Given the description of an element on the screen output the (x, y) to click on. 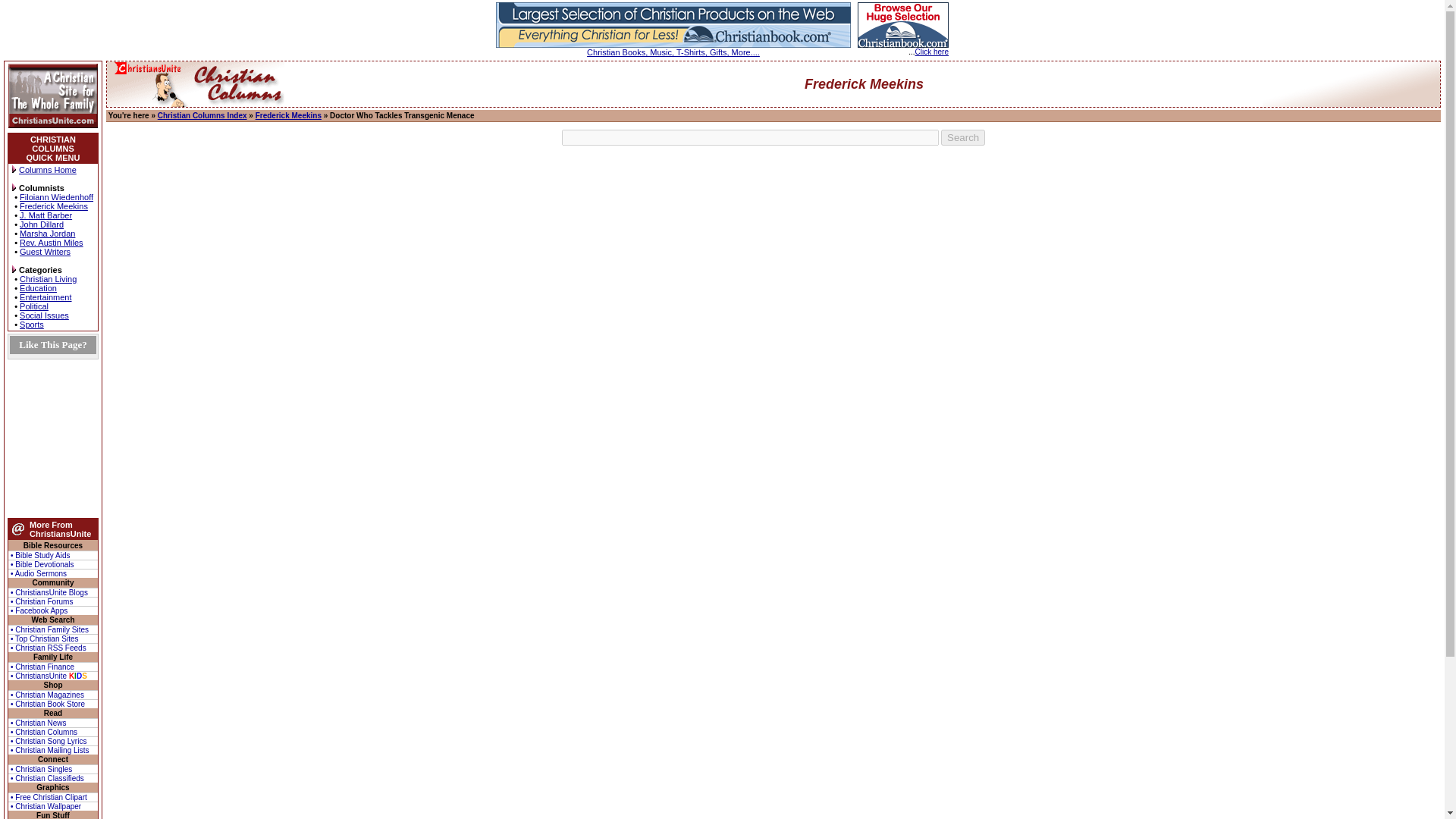
Rev. Austin Miles (51, 242)
J. Matt Barber (45, 215)
Columns Home (47, 169)
Sports (31, 324)
Guest Writers (44, 251)
Filoiann Wiedenhoff (56, 196)
Entertainment (45, 297)
Social Issues (44, 315)
Education (38, 287)
Search (962, 137)
